Given the description of an element on the screen output the (x, y) to click on. 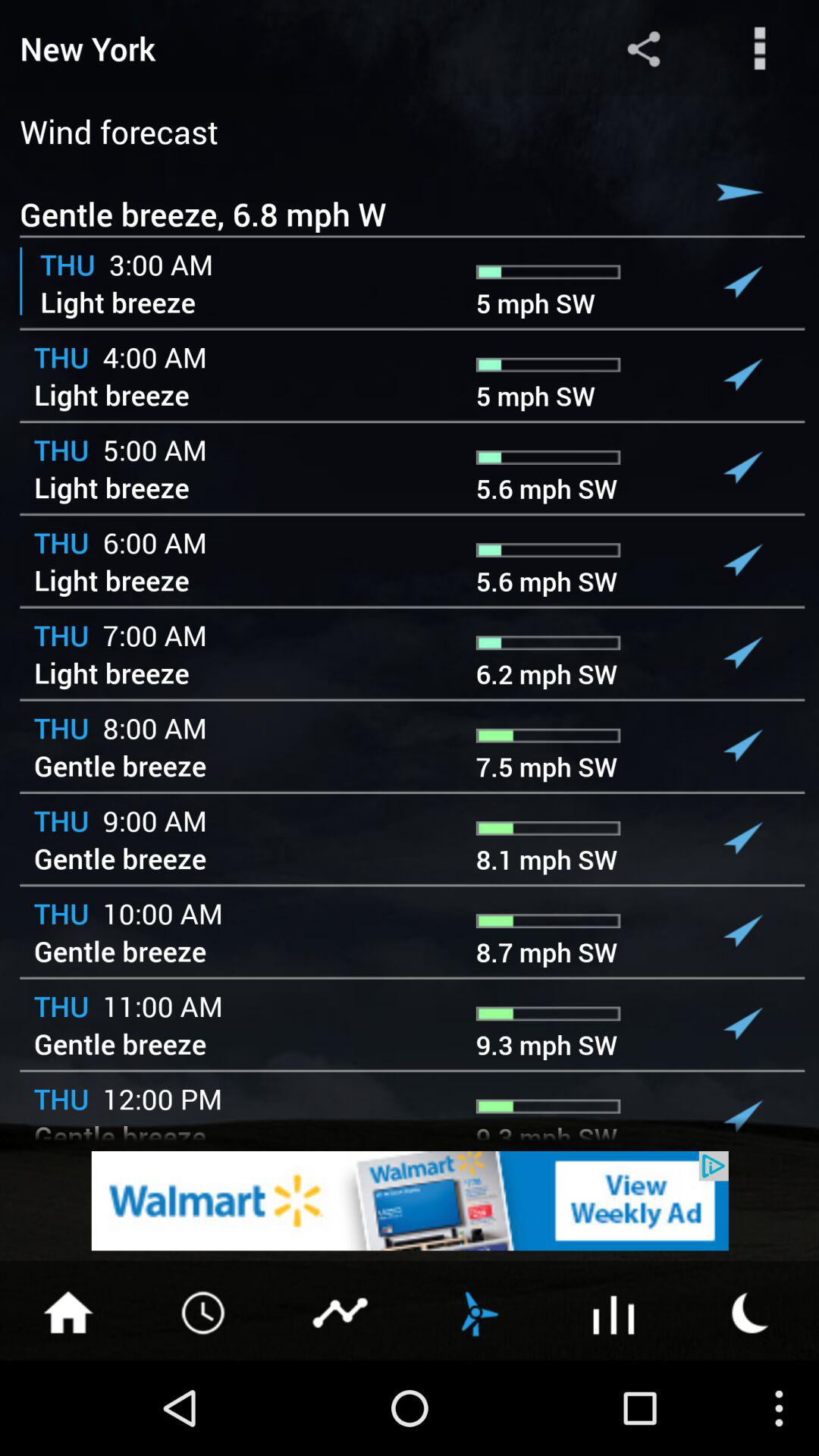
home page icon (68, 1311)
